Given the description of an element on the screen output the (x, y) to click on. 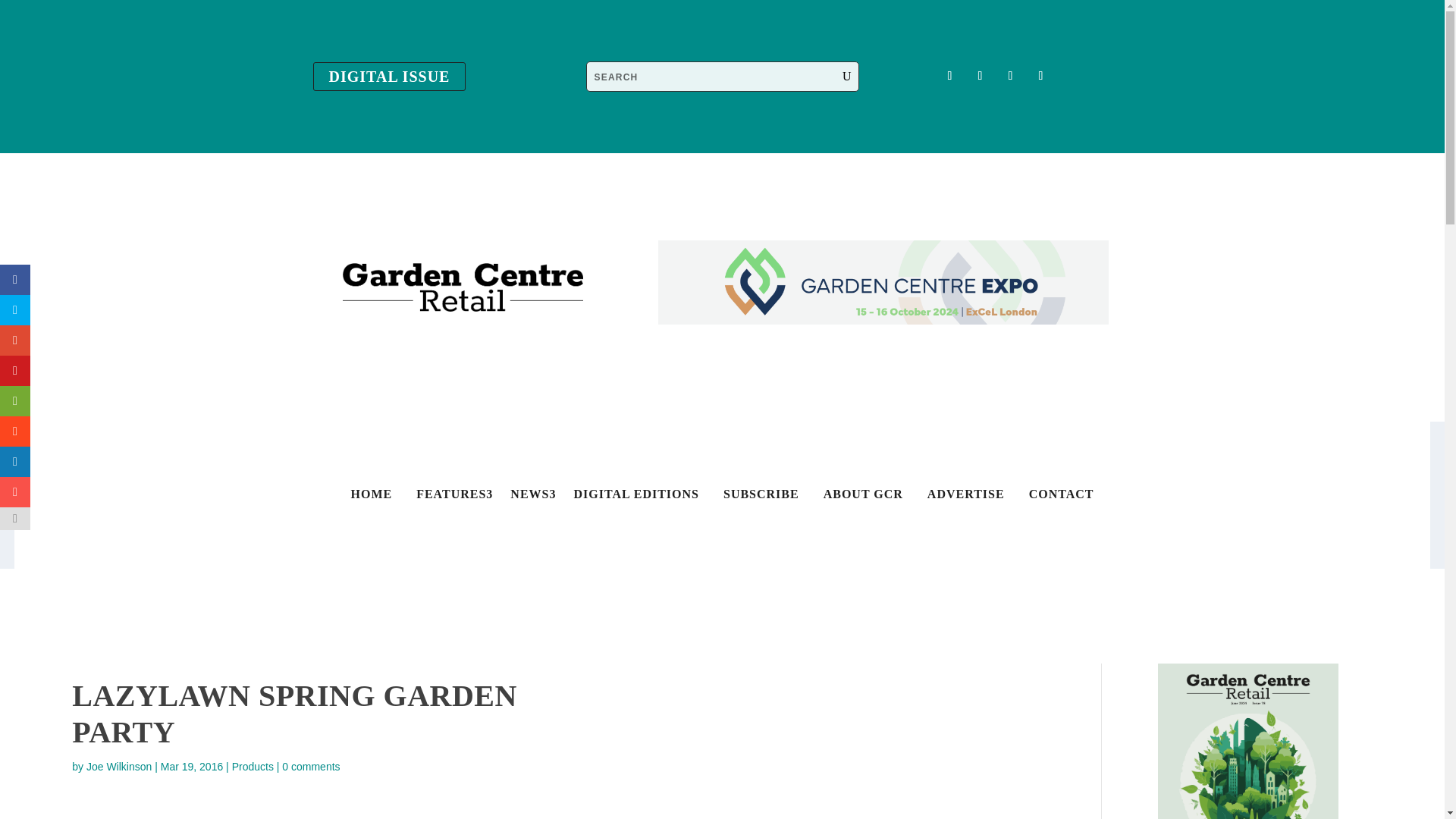
CONTACT (1061, 497)
ABOUT GCR (863, 497)
DIGITAL EDITIONS (636, 497)
ADVERTISE (966, 497)
NEWS (529, 497)
Follow on Instagram (1009, 75)
SUBSCRIBE (761, 497)
Posts by Joe Wilkinson (118, 766)
GCR black (462, 287)
DIGITAL ISSUE (389, 76)
HOME (371, 497)
Follow on Facebook (948, 75)
FEATURES (450, 497)
Follow on LinkedIn (1039, 75)
Follow on Twitter (979, 75)
